Given the description of an element on the screen output the (x, y) to click on. 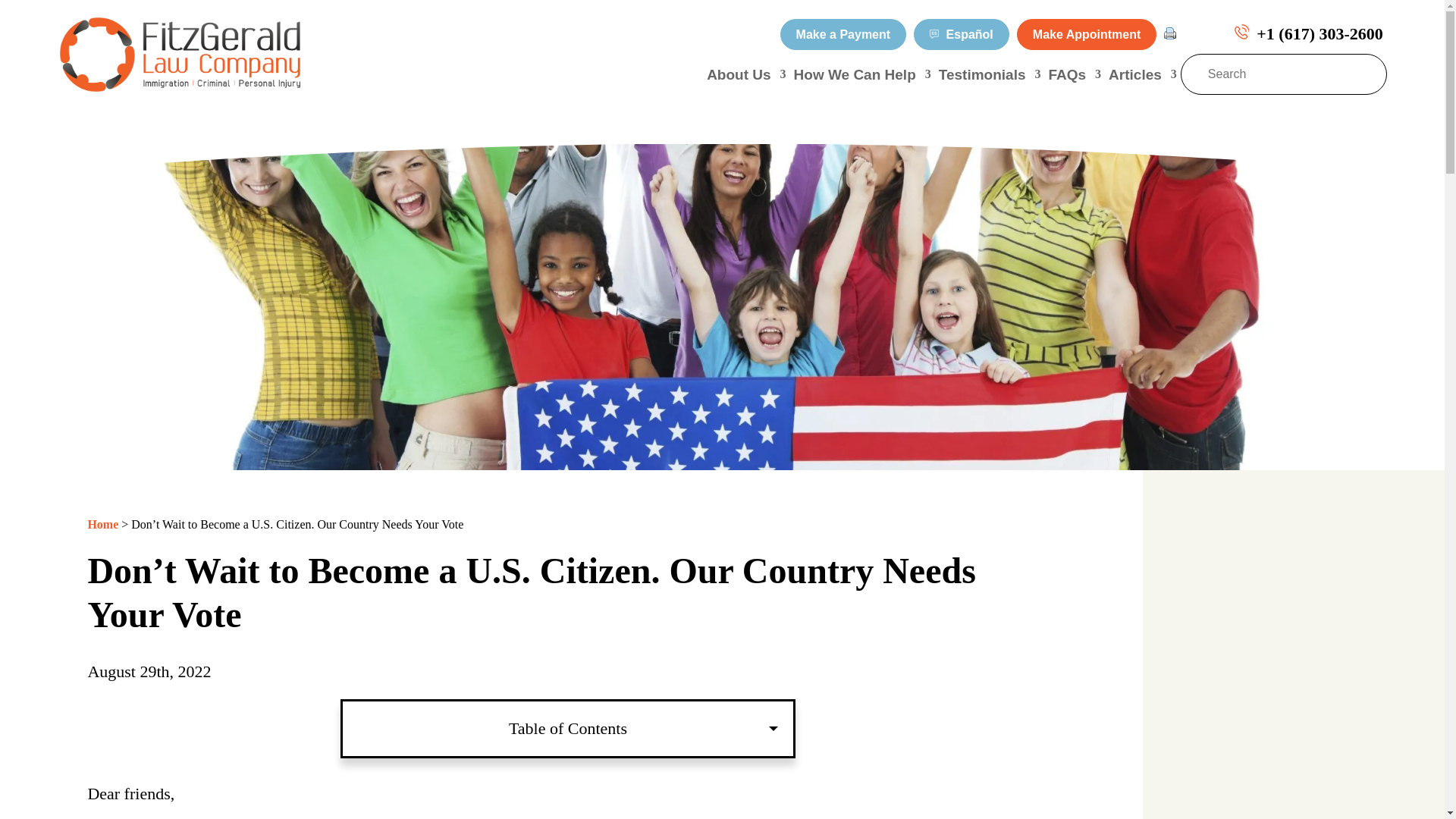
About Us (746, 74)
How We Can Help (862, 74)
Print (1169, 33)
Make a Payment (843, 33)
Make Appointment (1086, 33)
